Given the description of an element on the screen output the (x, y) to click on. 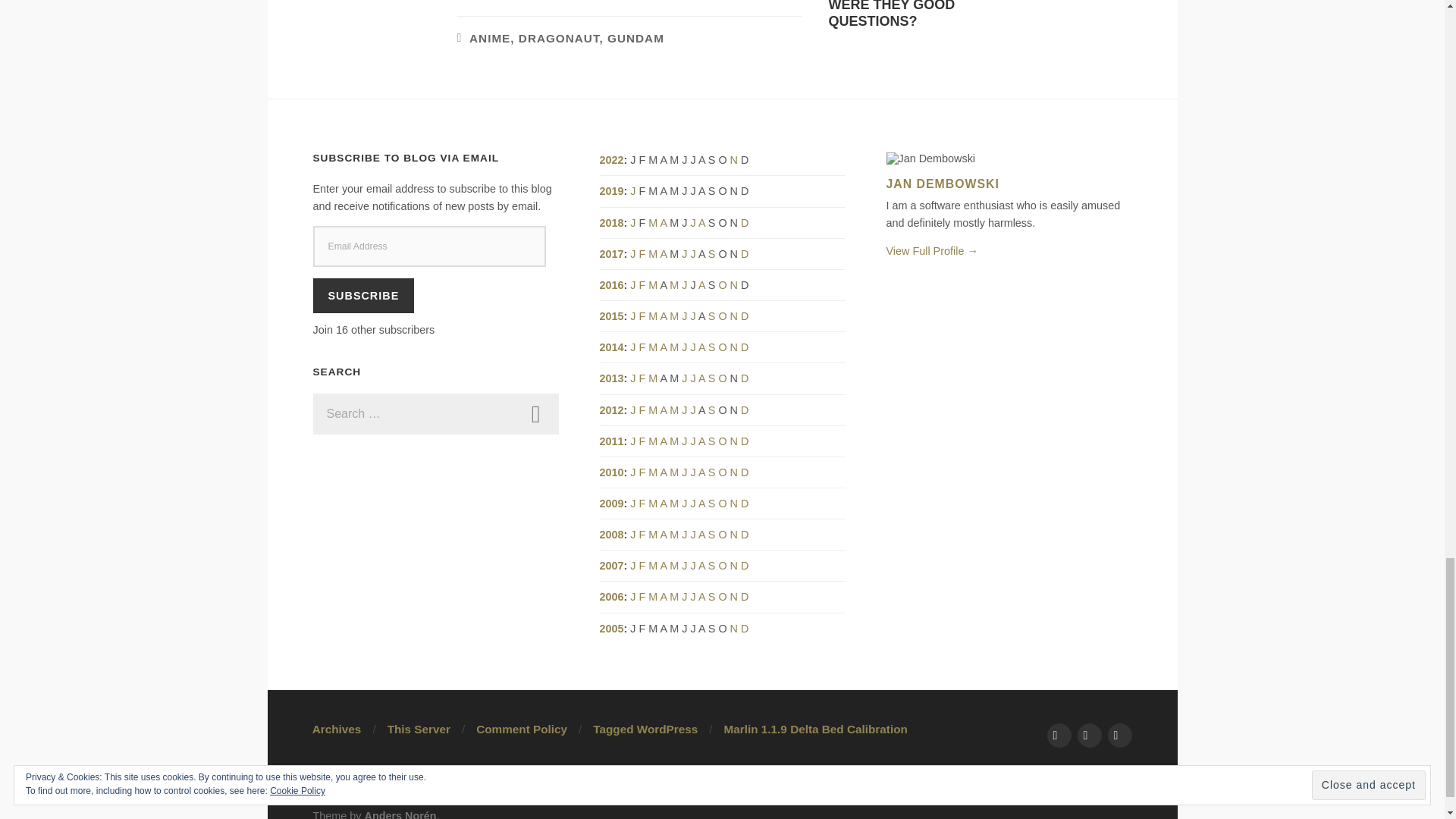
Search (907, 14)
ANIME (534, 413)
Search (489, 38)
Search (534, 413)
2022 (534, 413)
GUNDAM (610, 159)
DRAGONAUT (635, 38)
SUBSCRIBE (558, 38)
